Given the description of an element on the screen output the (x, y) to click on. 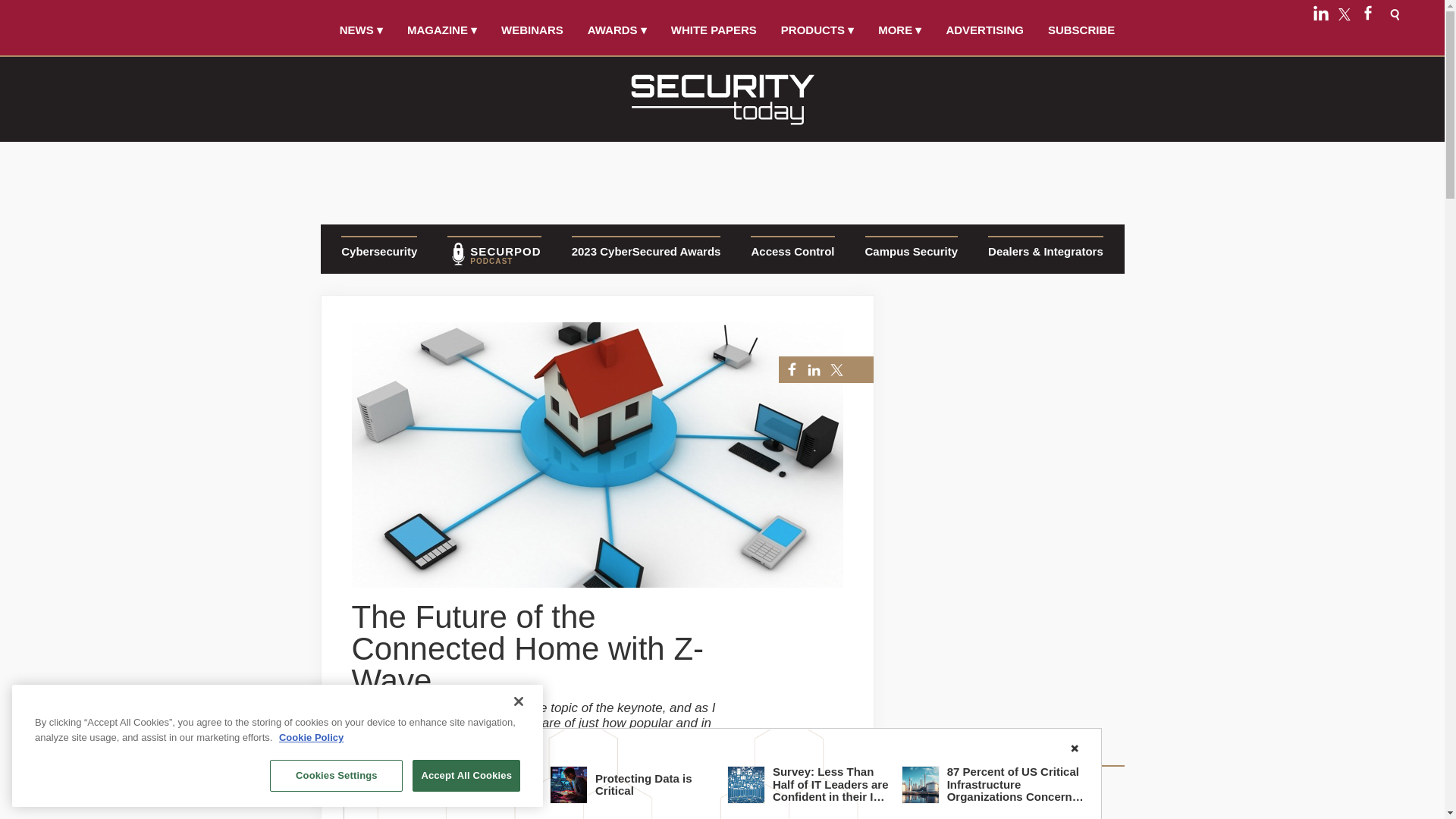
3rd party ad content (721, 178)
WEBINARS (531, 29)
WHITE PAPERS (714, 29)
